Given the description of an element on the screen output the (x, y) to click on. 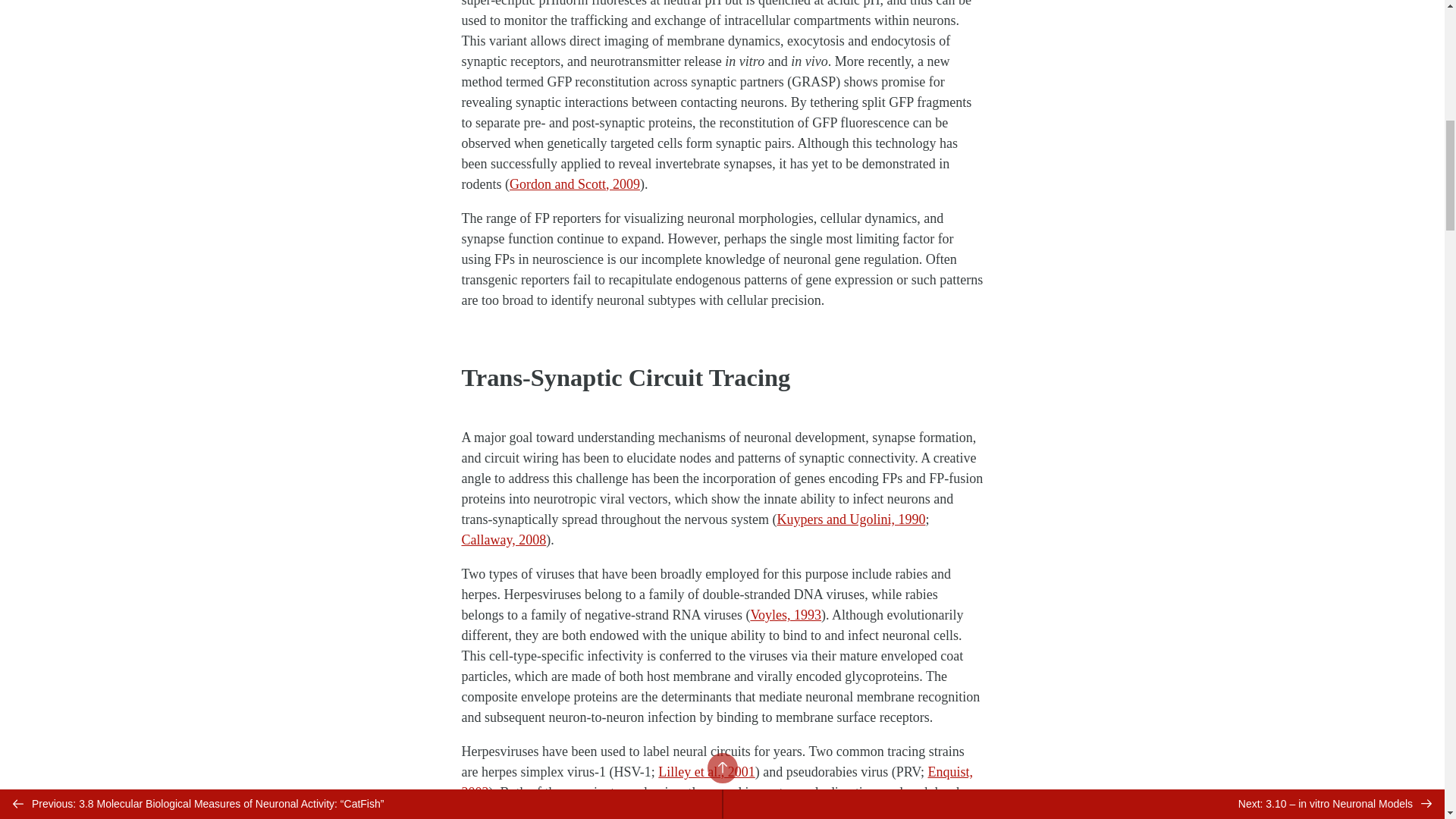
Enquist, 2002 (716, 782)
Callaway, 2008 (503, 539)
Kuypers and Ugolini, 1990 (850, 519)
Callaway, 2008 (710, 812)
Lilley et al., 2001 (706, 771)
Voyles, 1993 (785, 614)
Gordon and Scott, 2009 (574, 183)
